Given the description of an element on the screen output the (x, y) to click on. 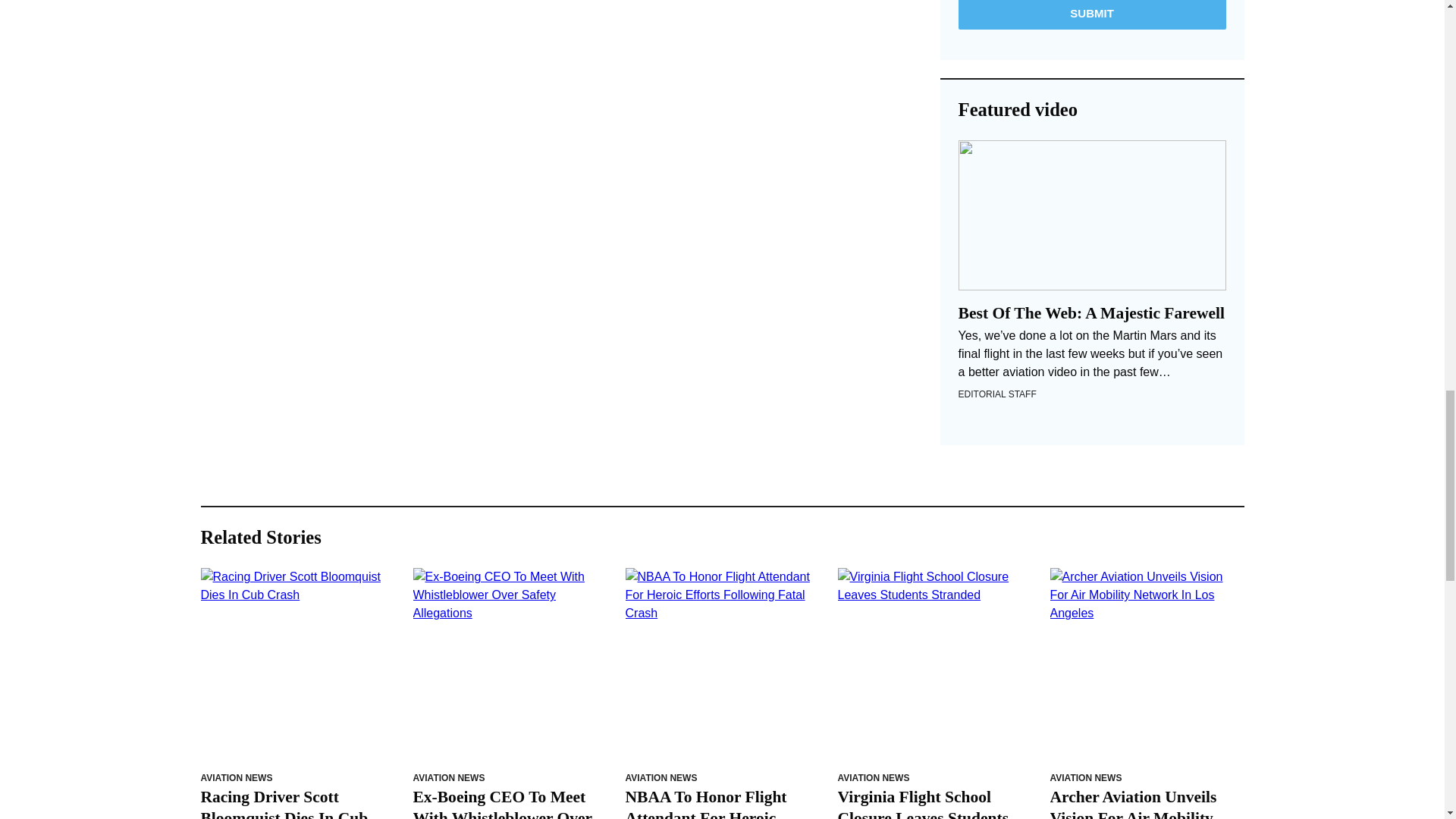
Virginia Flight School Closure Leaves Students Stranded (933, 665)
Racing Driver Scott Bloomquist Dies In Cub Crash (297, 665)
Best Of The Web: A Majestic Farewell (1091, 215)
